Given the description of an element on the screen output the (x, y) to click on. 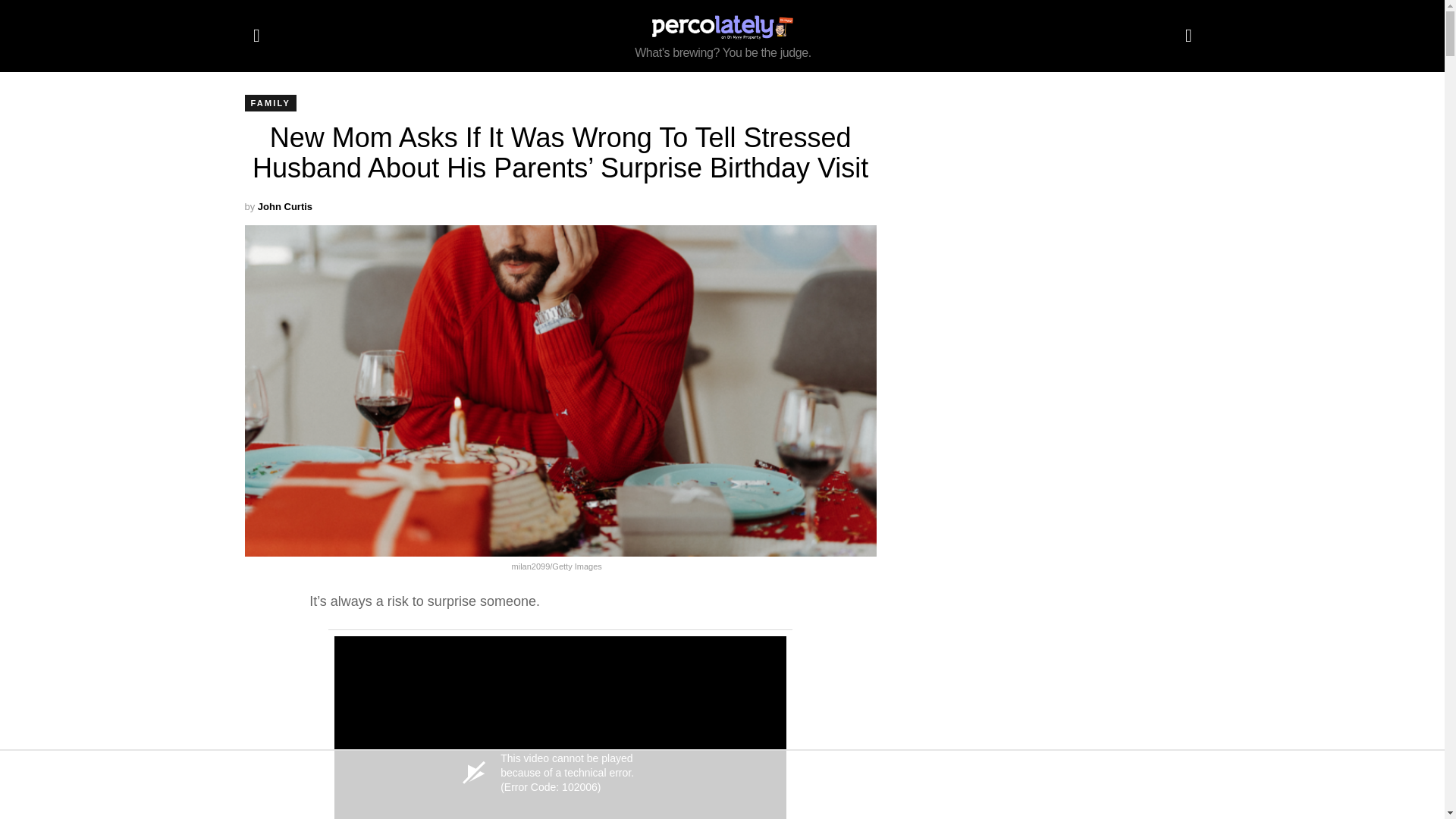
FAMILY (270, 103)
John Curtis (285, 206)
Posts by John Curtis (285, 206)
